Given the description of an element on the screen output the (x, y) to click on. 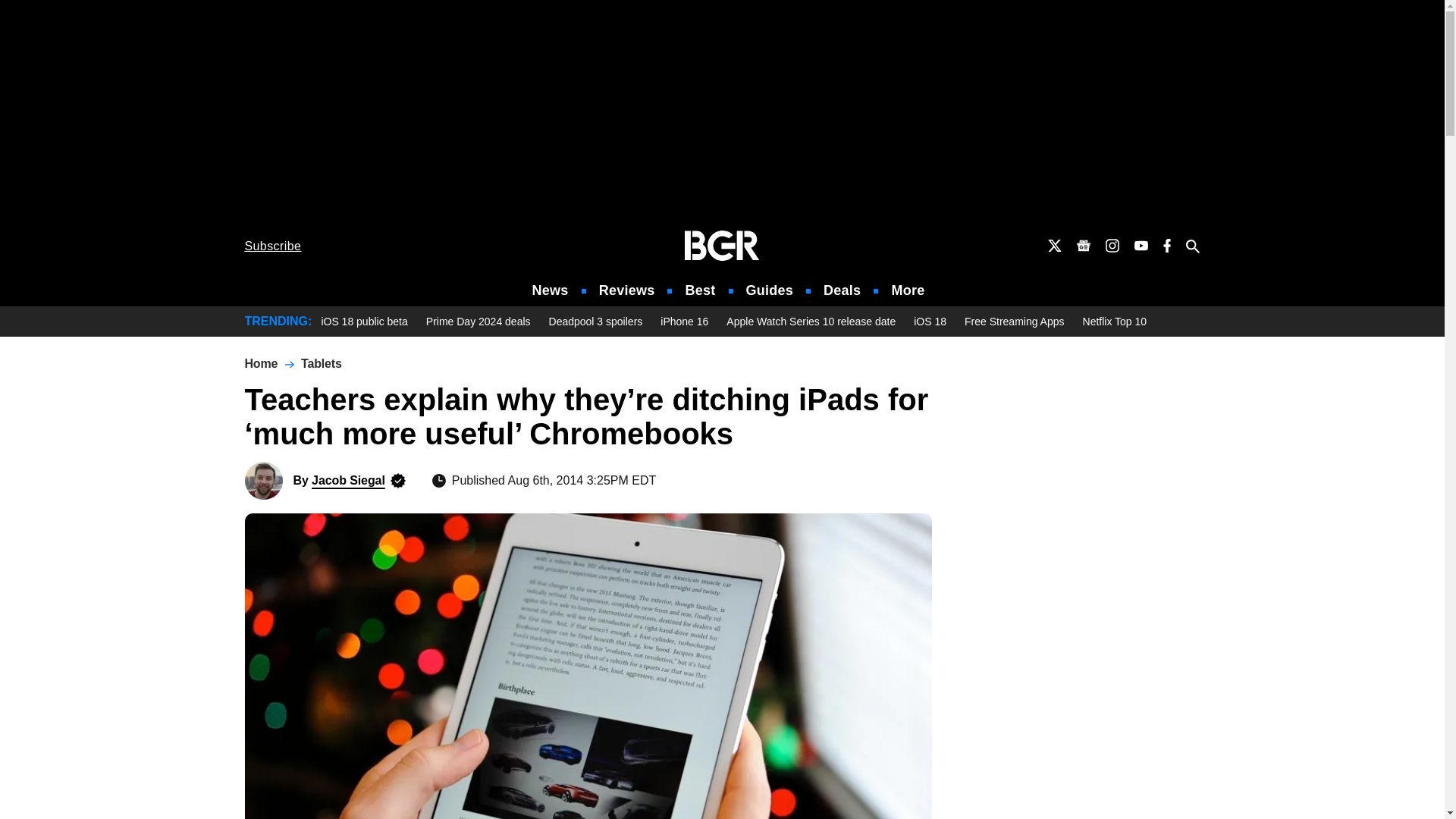
News (550, 290)
More (907, 290)
Posts by Jacob Siegal (348, 480)
Subscribe (272, 245)
Best (699, 290)
Guides (769, 290)
Reviews (626, 290)
Deals (842, 290)
